Given the description of an element on the screen output the (x, y) to click on. 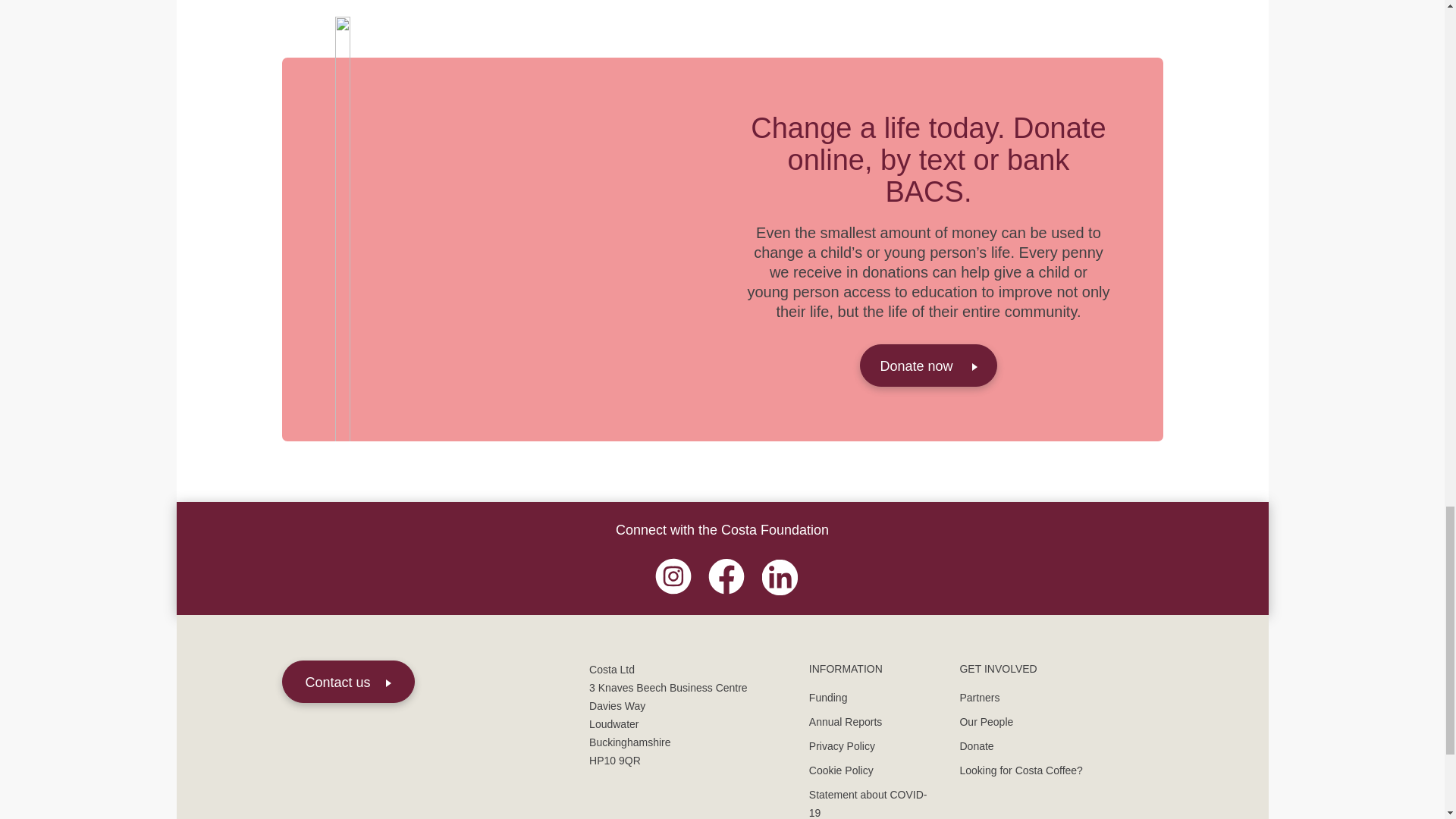
Donate now (927, 364)
